Given the description of an element on the screen output the (x, y) to click on. 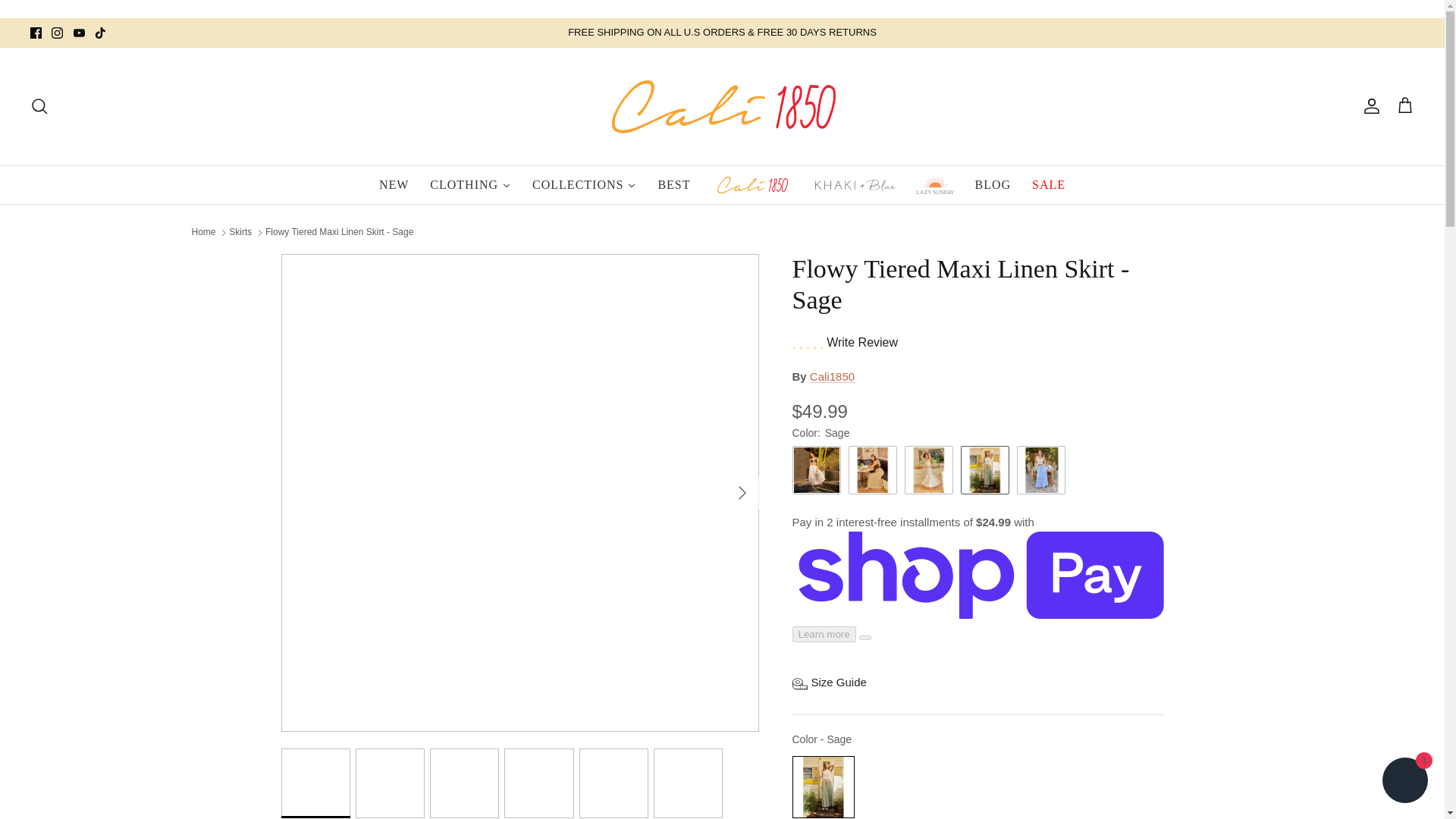
SALE (1048, 184)
RIGHT (741, 492)
Youtube (79, 32)
Search (39, 106)
BLOG (992, 184)
Instagram (56, 32)
BEST (673, 184)
Youtube (79, 32)
Account (1368, 106)
COLLECTIONS (583, 184)
Facebook (36, 32)
BEST (673, 184)
NEW (393, 184)
NEW (393, 184)
CLOTHING (470, 184)
